Given the description of an element on the screen output the (x, y) to click on. 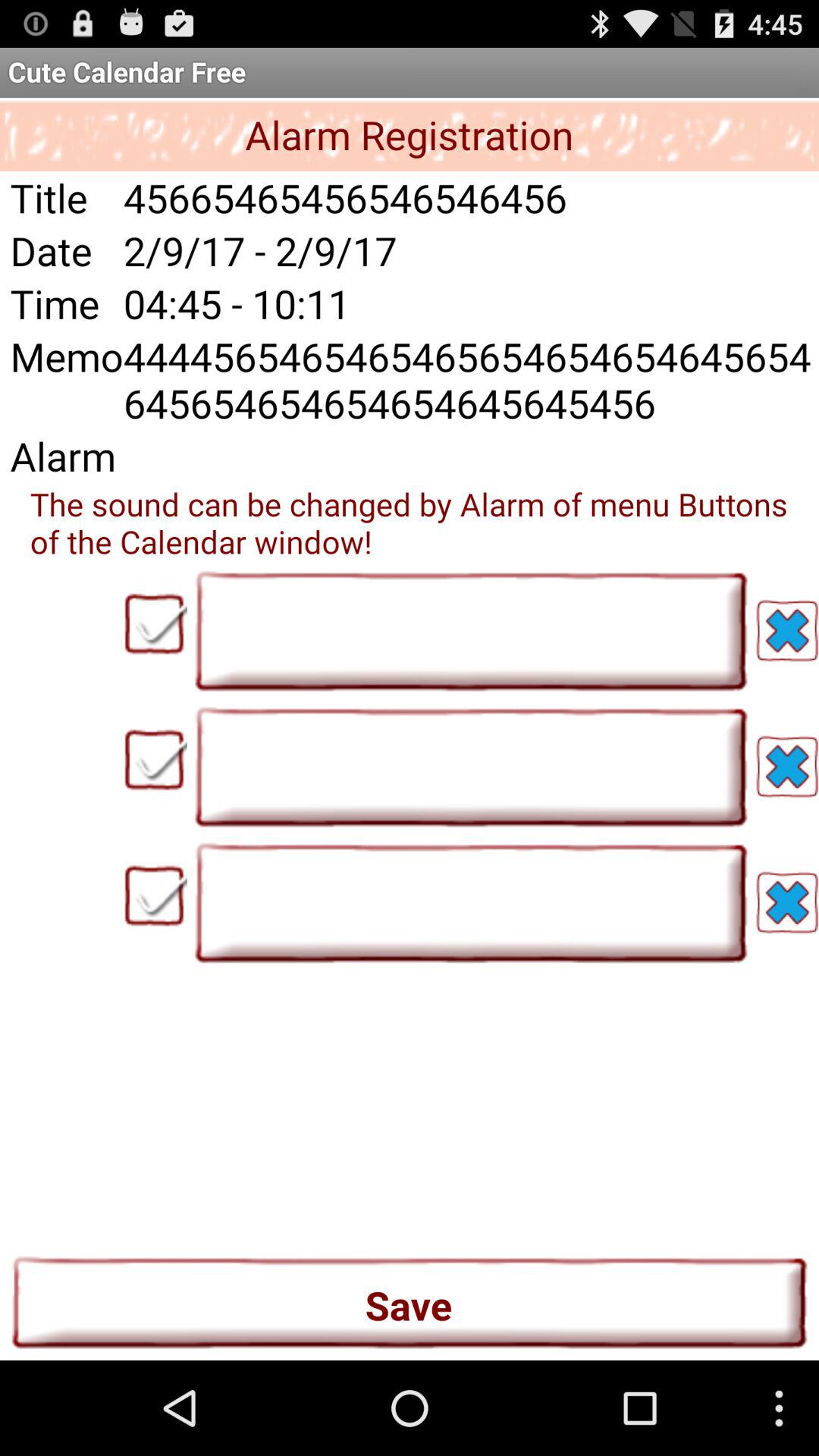
click on the button which is right to the second text field box (787, 766)
select the first text field (471, 631)
button left to second text field (155, 760)
click on the button left to first text feed (155, 624)
select the button left side of second blue cross icon (471, 766)
